Given the description of an element on the screen output the (x, y) to click on. 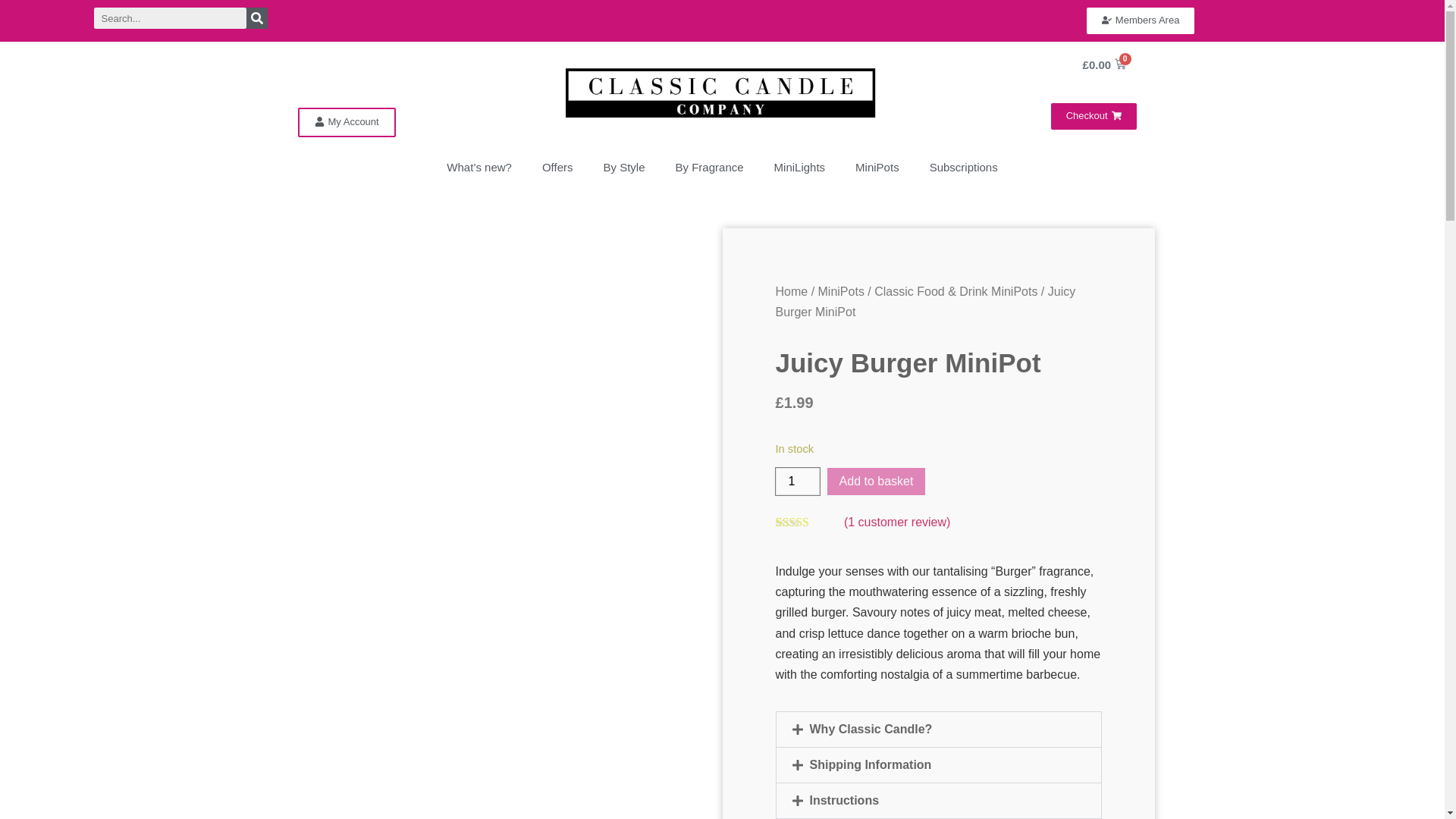
Checkout (1094, 116)
Members Area (1140, 20)
1 (796, 481)
My Account (345, 122)
